Given the description of an element on the screen output the (x, y) to click on. 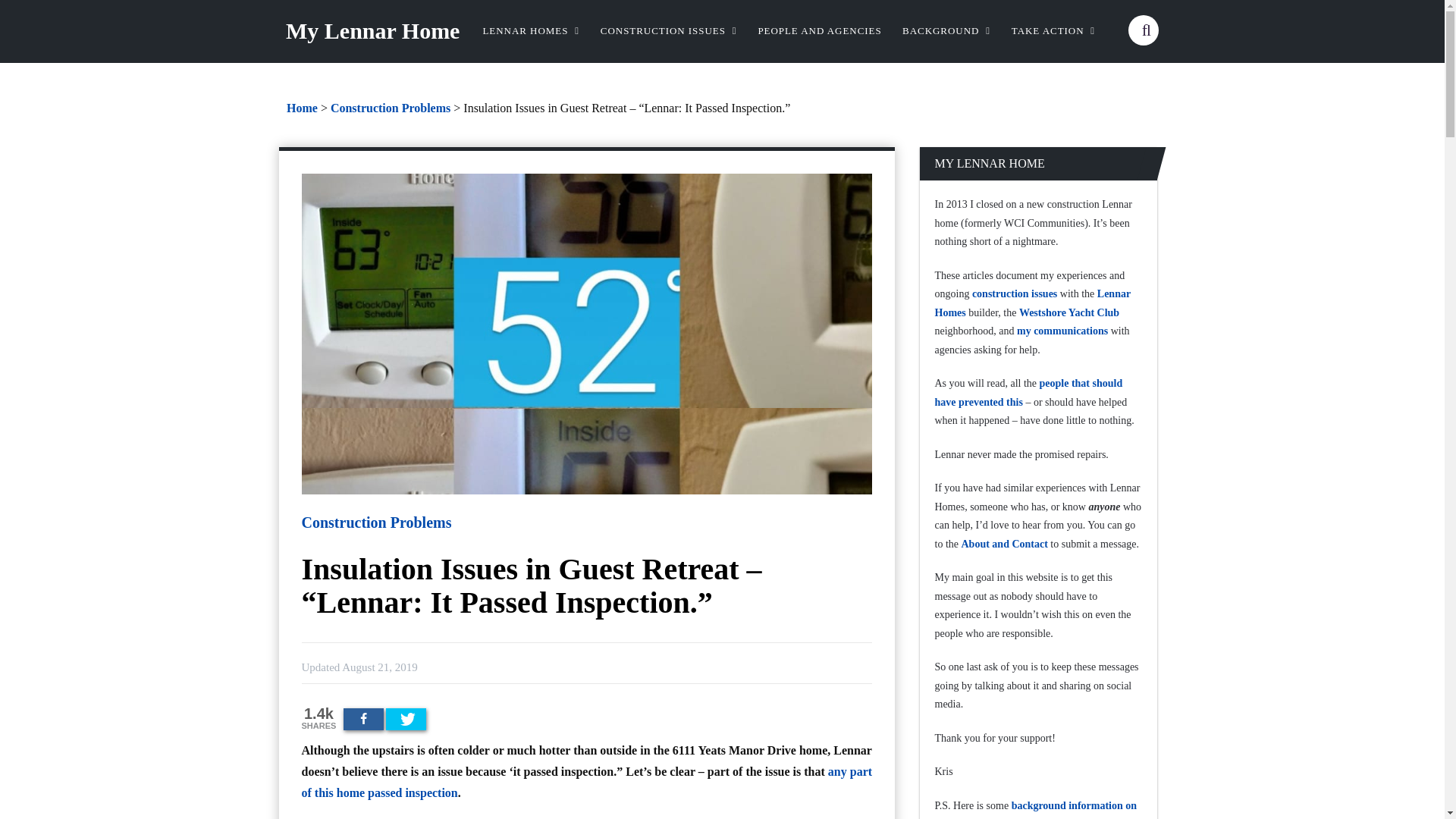
Go to the Construction Problems category archives. (389, 107)
TAKE ACTION (1053, 31)
Go to My Lennar Home. (301, 107)
PEOPLE AND AGENCIES (818, 31)
BACKGROUND (946, 31)
LENNAR HOMES (530, 31)
My Lennar Home (372, 30)
CONSTRUCTION ISSUES (668, 31)
